Given the description of an element on the screen output the (x, y) to click on. 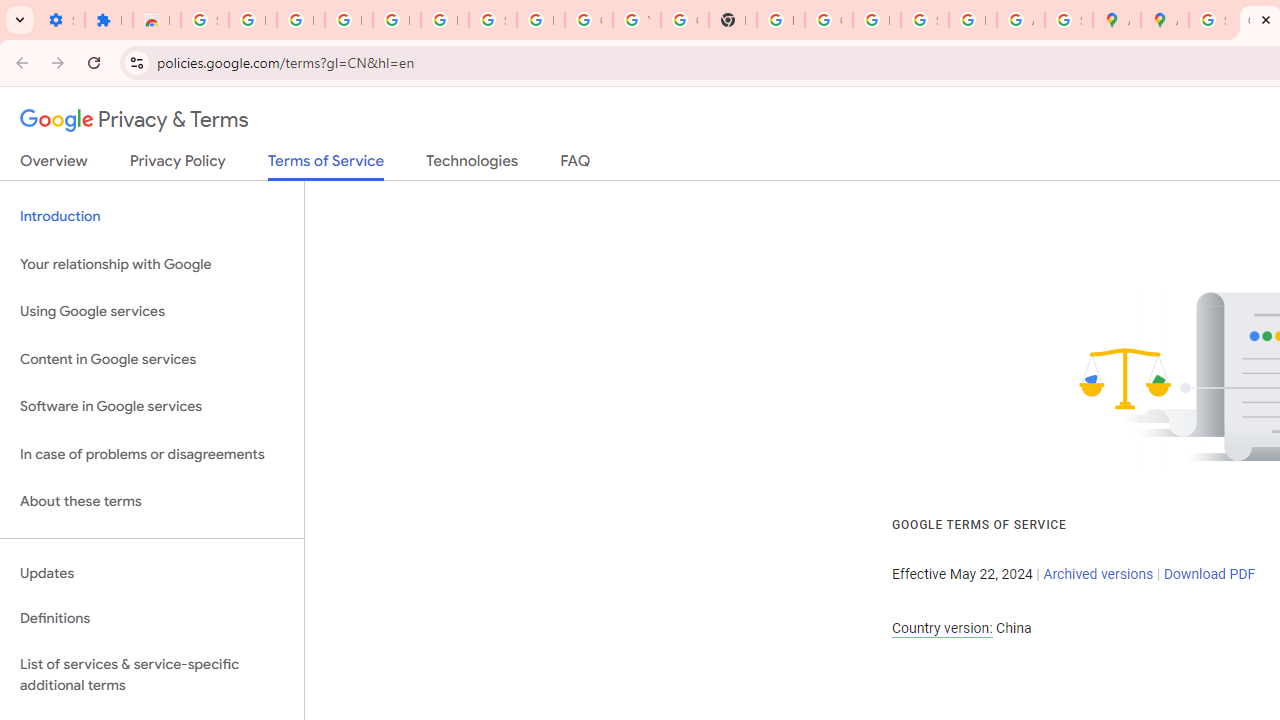
About these terms (152, 502)
Sign in - Google Accounts (1212, 20)
Reviews: Helix Fruit Jump Arcade Game (156, 20)
